Given the description of an element on the screen output the (x, y) to click on. 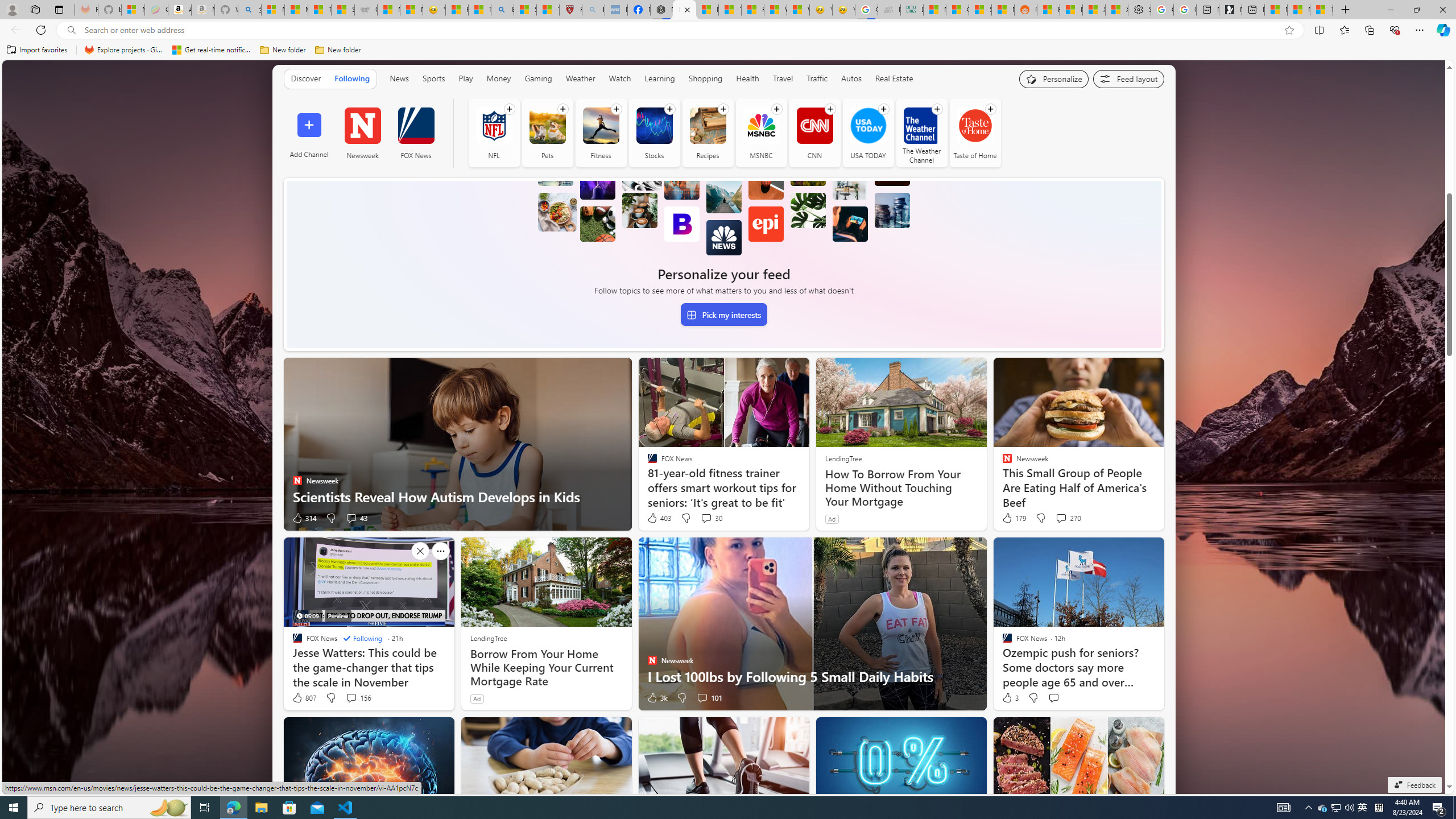
LendingTree (488, 637)
Newsweek (362, 133)
USA TODAY (868, 133)
View comments 156 Comment (357, 697)
Recipes (707, 133)
View comments 270 Comment (1061, 518)
View comments 101 Comment (701, 697)
